Given the description of an element on the screen output the (x, y) to click on. 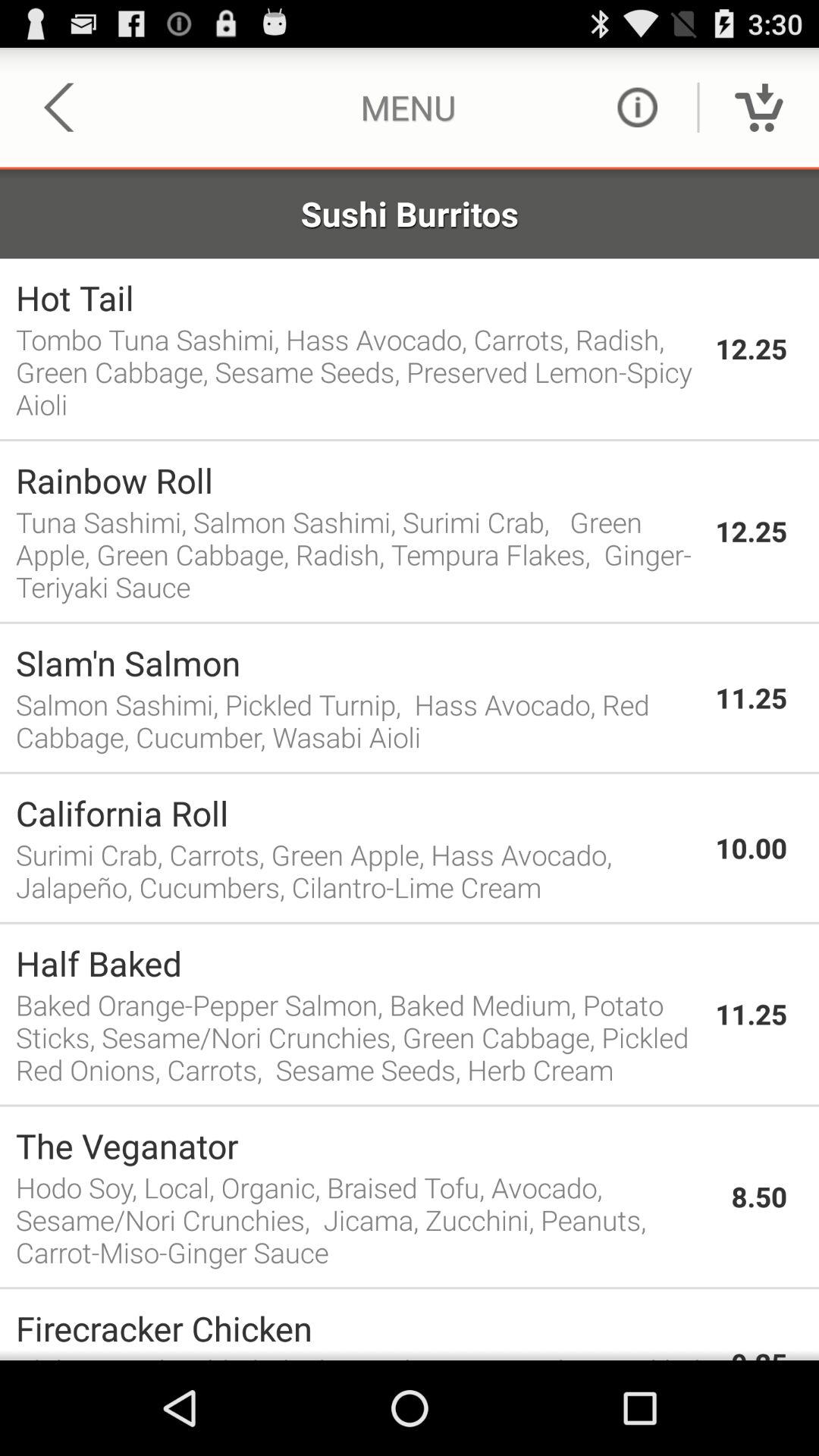
select the app above salmon sashimi pickled (357, 662)
